Given the description of an element on the screen output the (x, y) to click on. 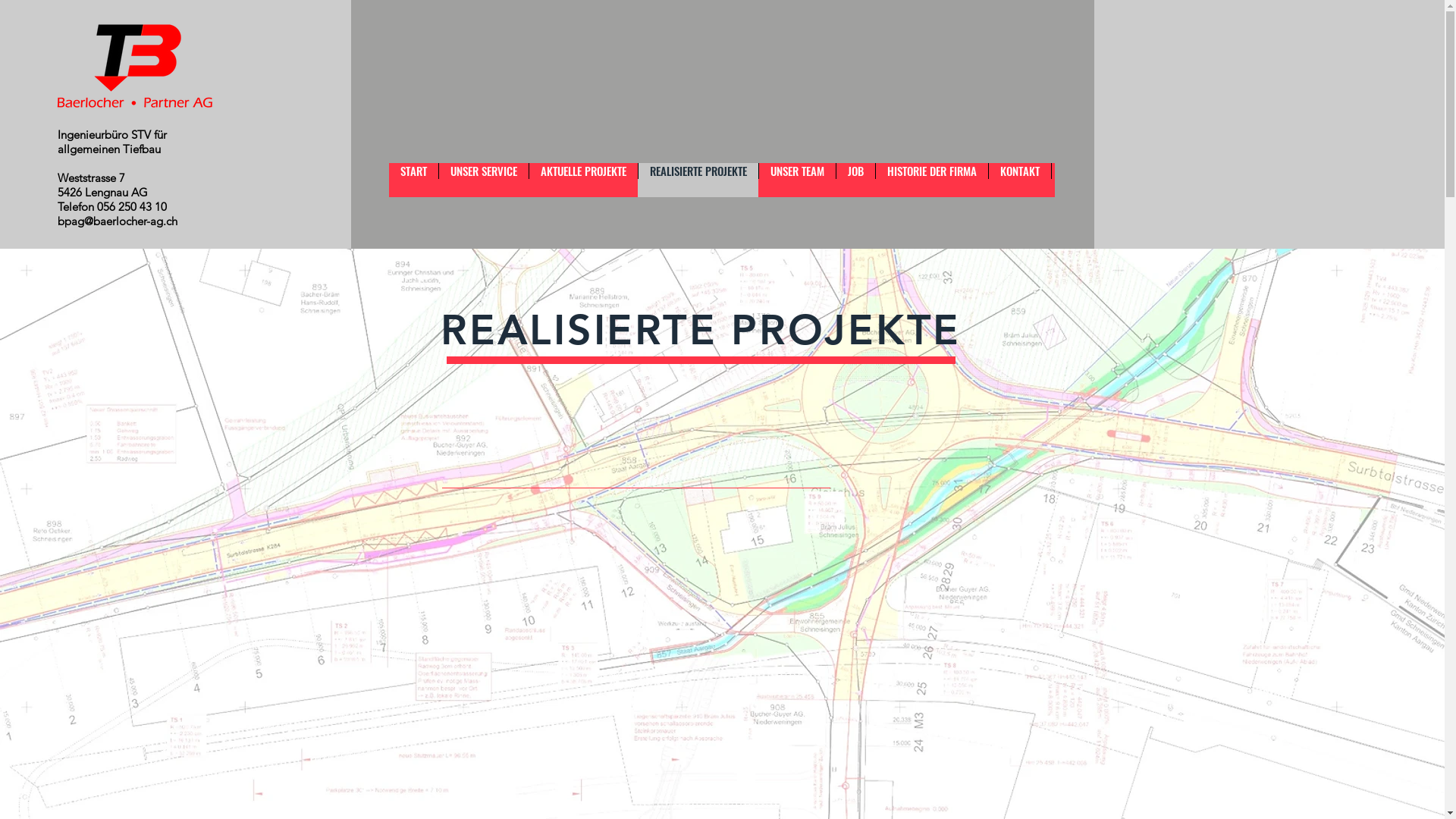
KONTAKT Element type: text (1018, 180)
HISTORIE DER FIRMA Element type: text (931, 180)
AKTUELLE PROJEKTE Element type: text (582, 180)
bpag@baerlocher-ag.ch Element type: text (117, 220)
REALISIERTE PROJEKTE Element type: text (697, 180)
JOB Element type: text (855, 180)
UNSER TEAM Element type: text (796, 180)
START Element type: text (412, 180)
UNSER SERVICE Element type: text (483, 180)
